Given the description of an element on the screen output the (x, y) to click on. 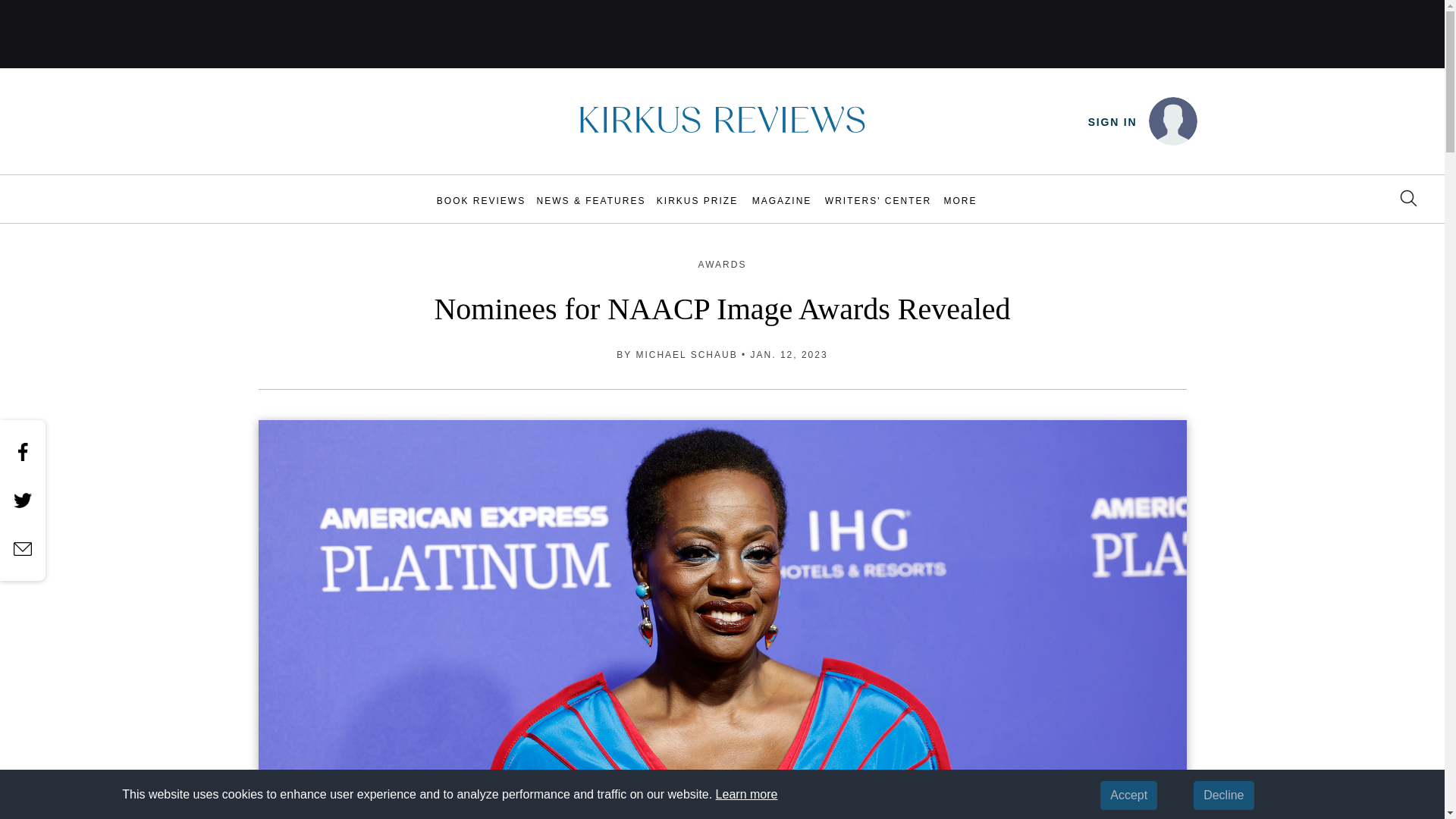
SIGN IN (1111, 122)
Share via Email (22, 548)
Share via Twitter (22, 500)
3rd party ad content (722, 33)
Share via Facebook (22, 452)
BOOK REVIEWS (480, 201)
